Given the description of an element on the screen output the (x, y) to click on. 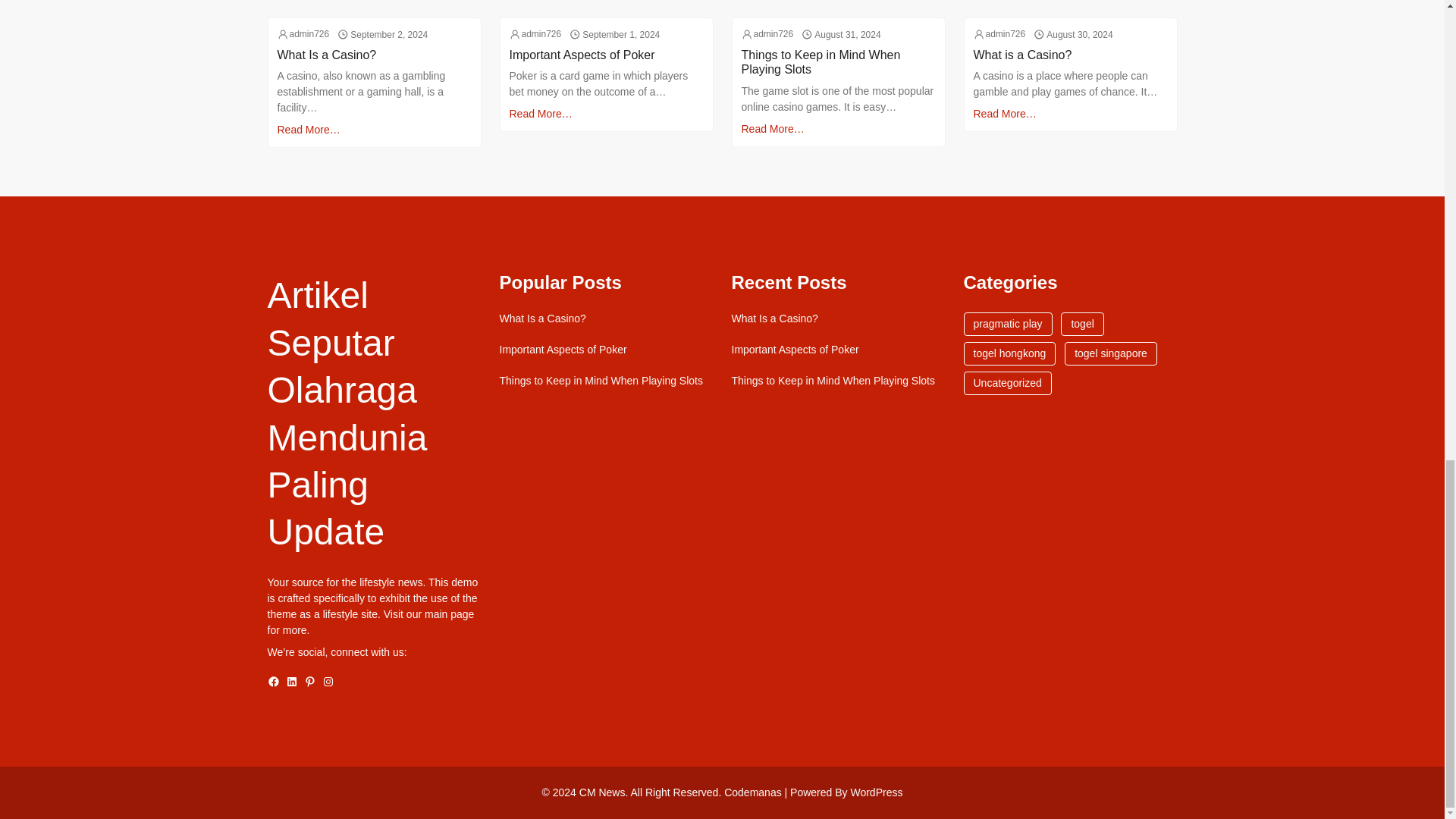
Things to Keep in Mind When Playing Slots (838, 61)
What Is a Casino? (542, 318)
What Is a Casino? (773, 318)
Things to Keep in Mind When Playing Slots (832, 380)
What Is a Casino? (327, 54)
LinkedIn (291, 681)
Important Aspects of Poker (562, 349)
Pinterest (308, 681)
Important Aspects of Poker (582, 54)
Facebook (272, 681)
